Given the description of an element on the screen output the (x, y) to click on. 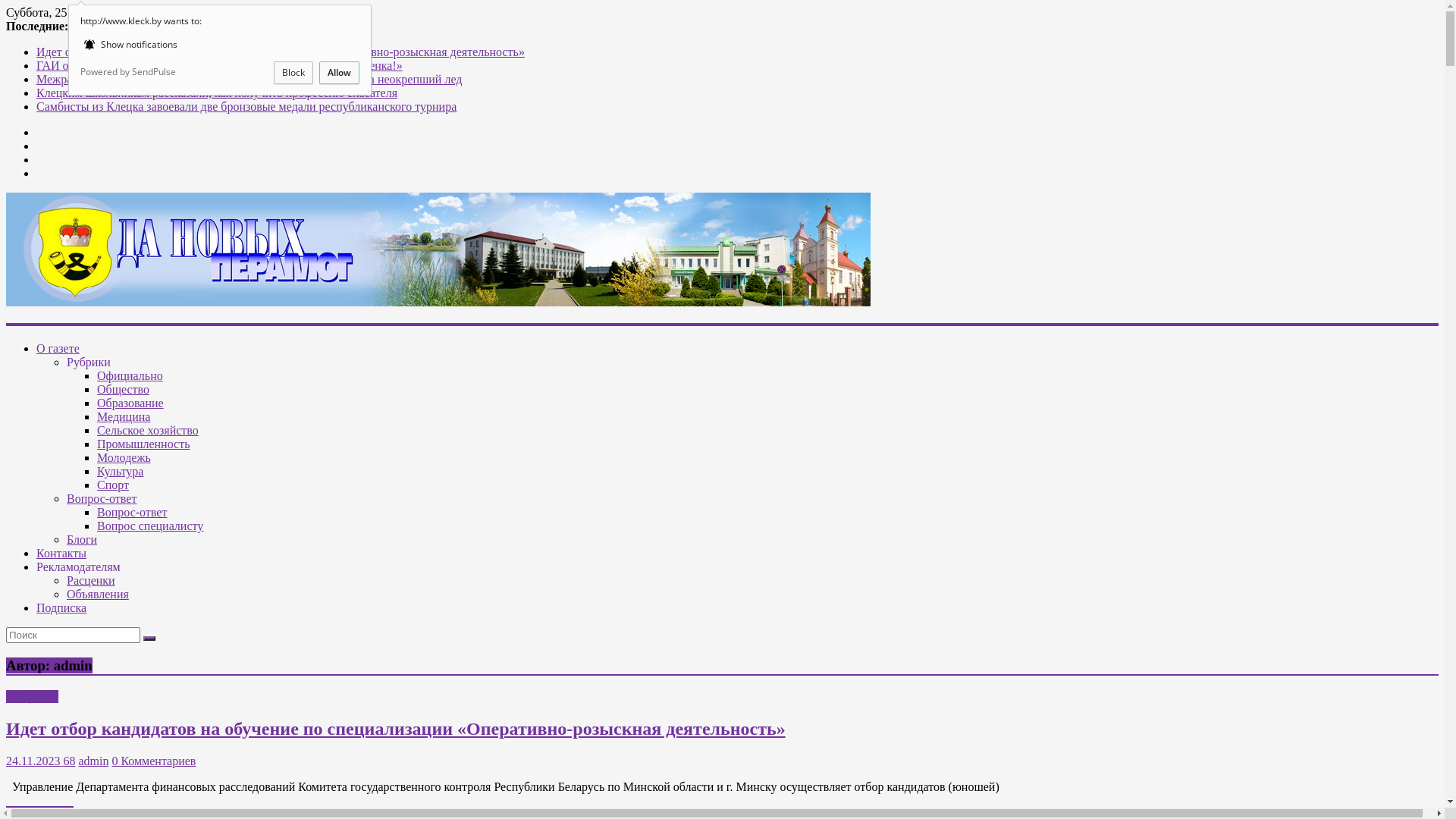
24.11.2023 Element type: text (32, 760)
Allow Element type: text (339, 72)
Powered by SendPulse Element type: text (127, 72)
68 Element type: text (67, 760)
admin Element type: text (93, 760)
Block Element type: text (293, 72)
